Given the description of an element on the screen output the (x, y) to click on. 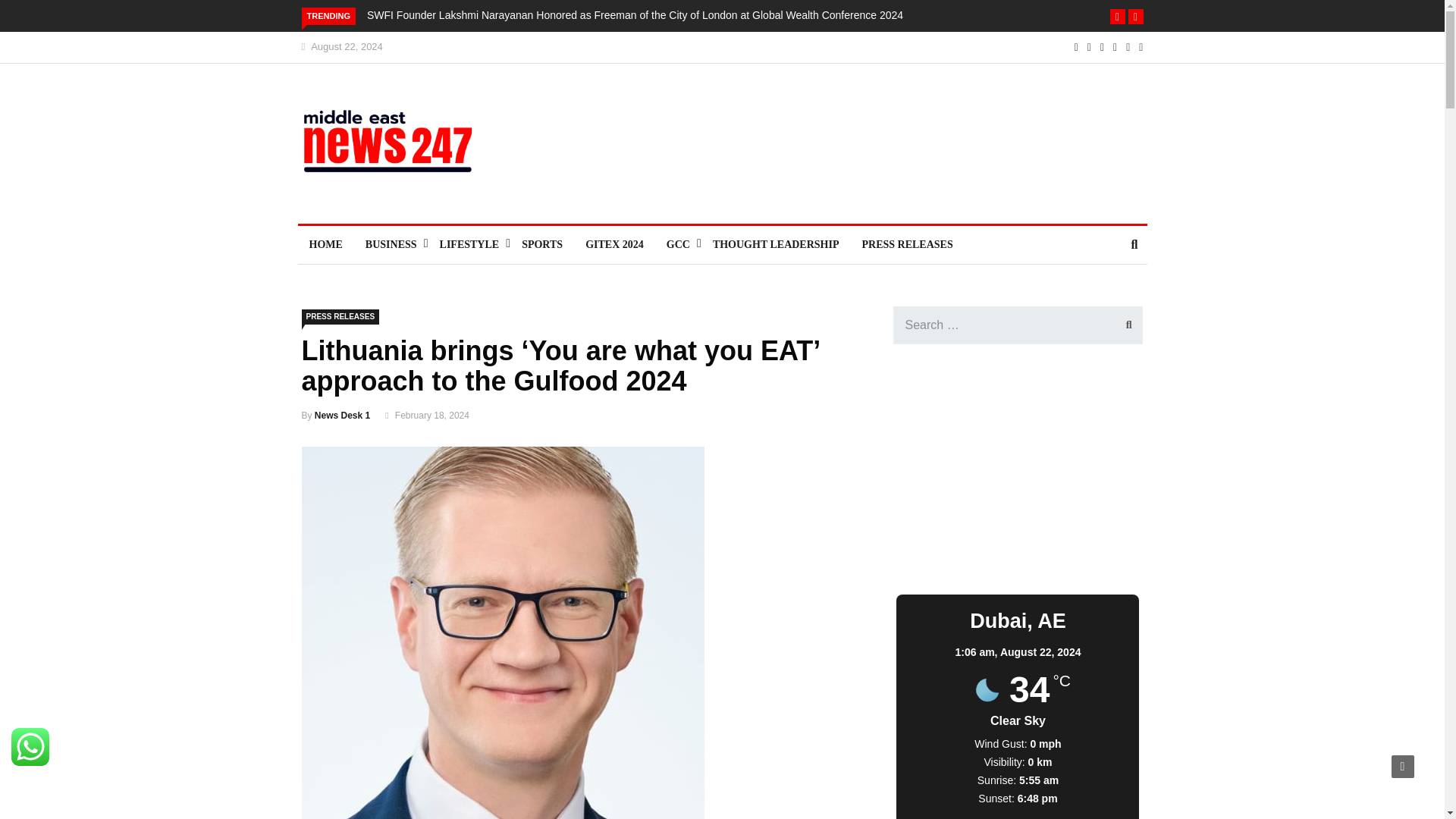
BUSINESS (390, 244)
HOME (325, 244)
logo (398, 148)
